Given the description of an element on the screen output the (x, y) to click on. 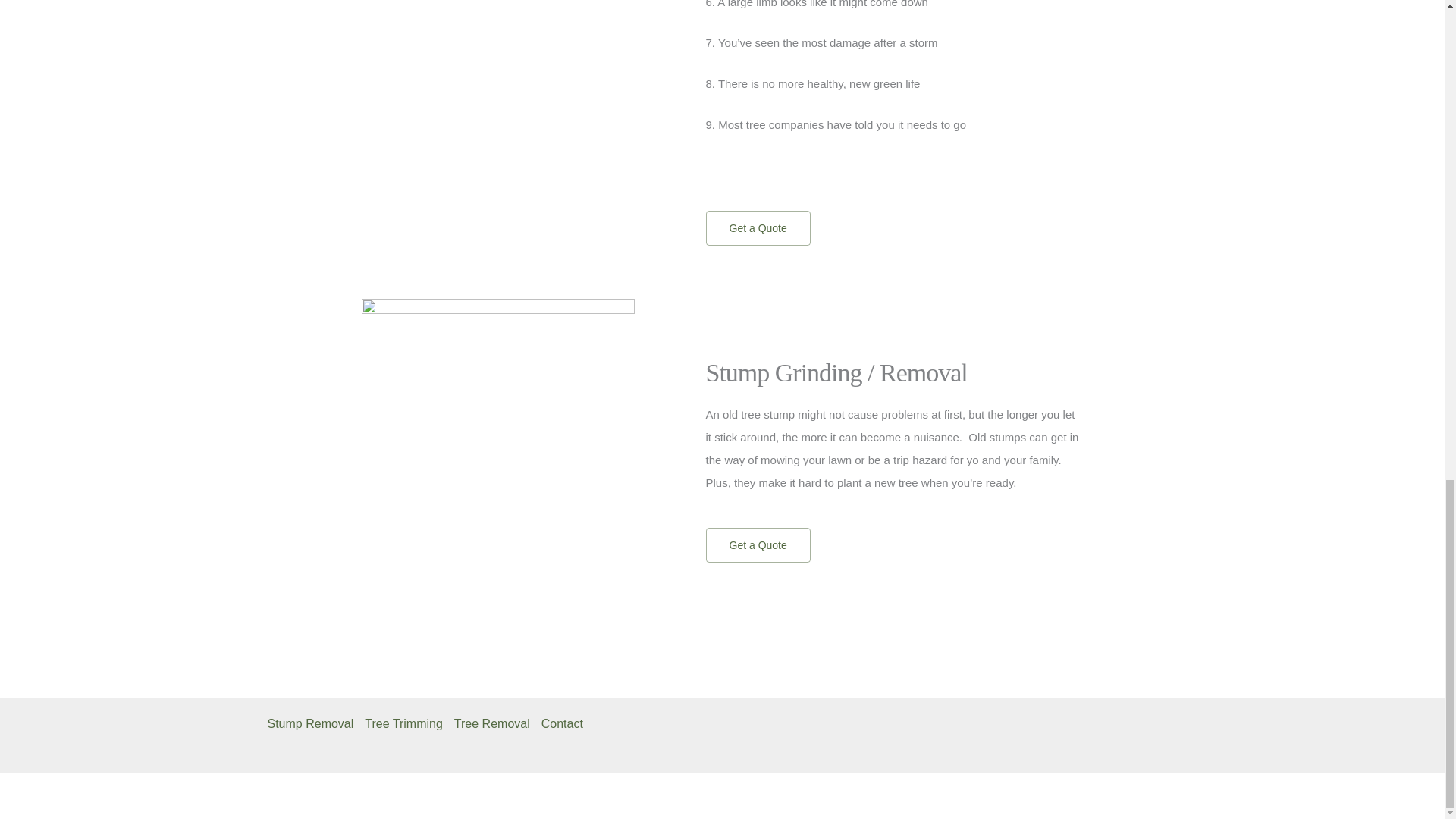
Tree Trimming (409, 723)
Contact (567, 723)
Get a Quote (756, 227)
Stump Removal (315, 723)
Get a Quote (756, 544)
Tree Removal (497, 723)
